Given the description of an element on the screen output the (x, y) to click on. 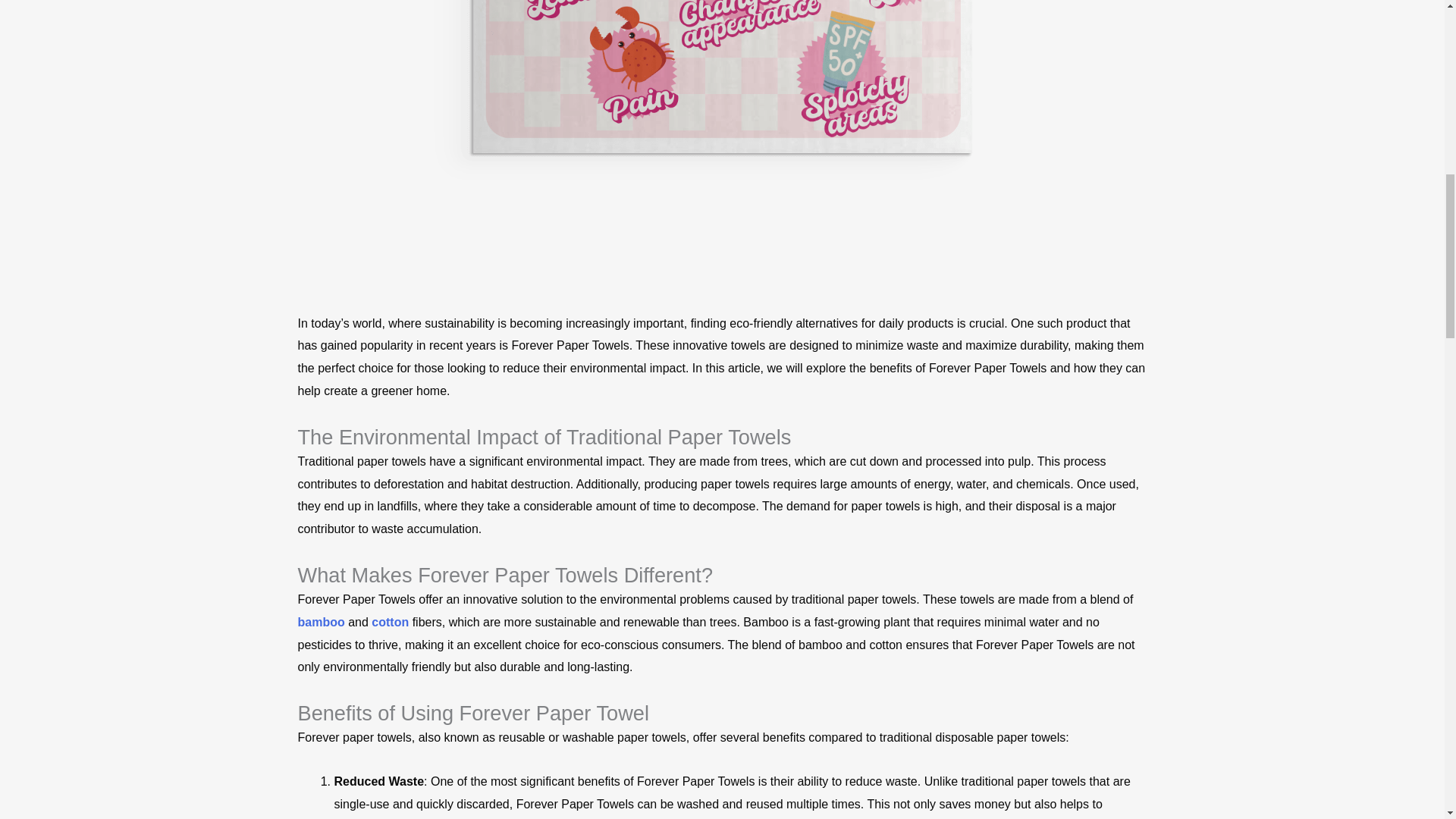
bamboo (322, 621)
cotton (390, 621)
